Given the description of an element on the screen output the (x, y) to click on. 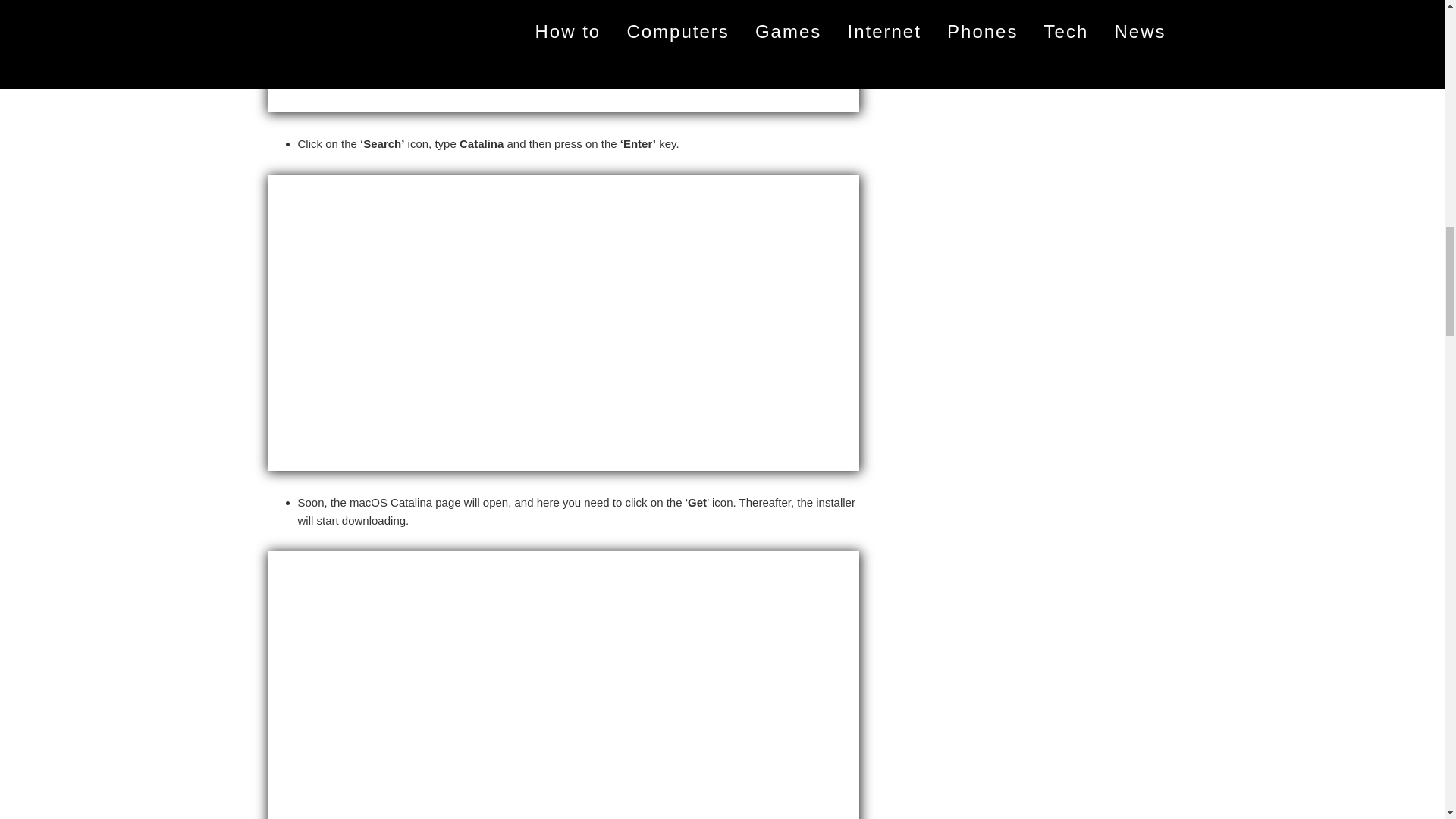
How to Create a Bootable USB for macOS Catalina? (562, 56)
